Given the description of an element on the screen output the (x, y) to click on. 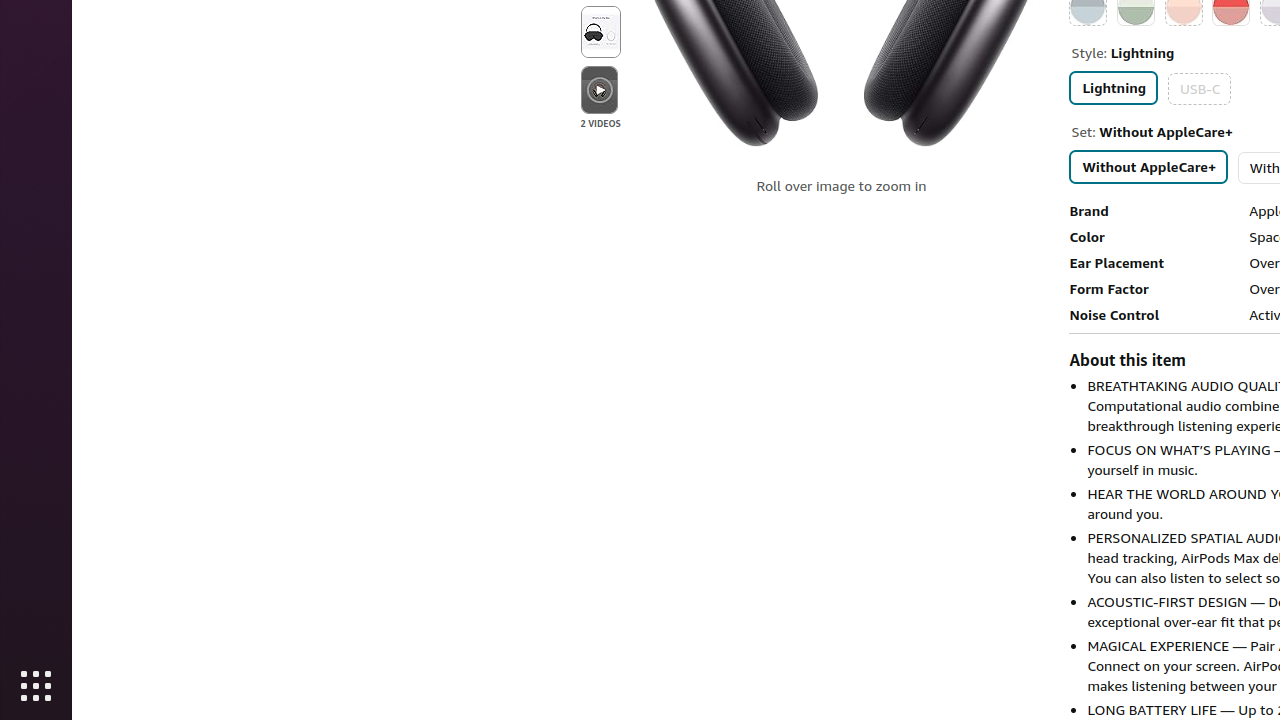
Without AppleCare+ Element type: push-button (1149, 166)
Lightning Element type: push-button (1114, 87)
Show Applications Element type: toggle-button (36, 686)
USB-C Element type: push-button (1199, 88)
